Given the description of an element on the screen output the (x, y) to click on. 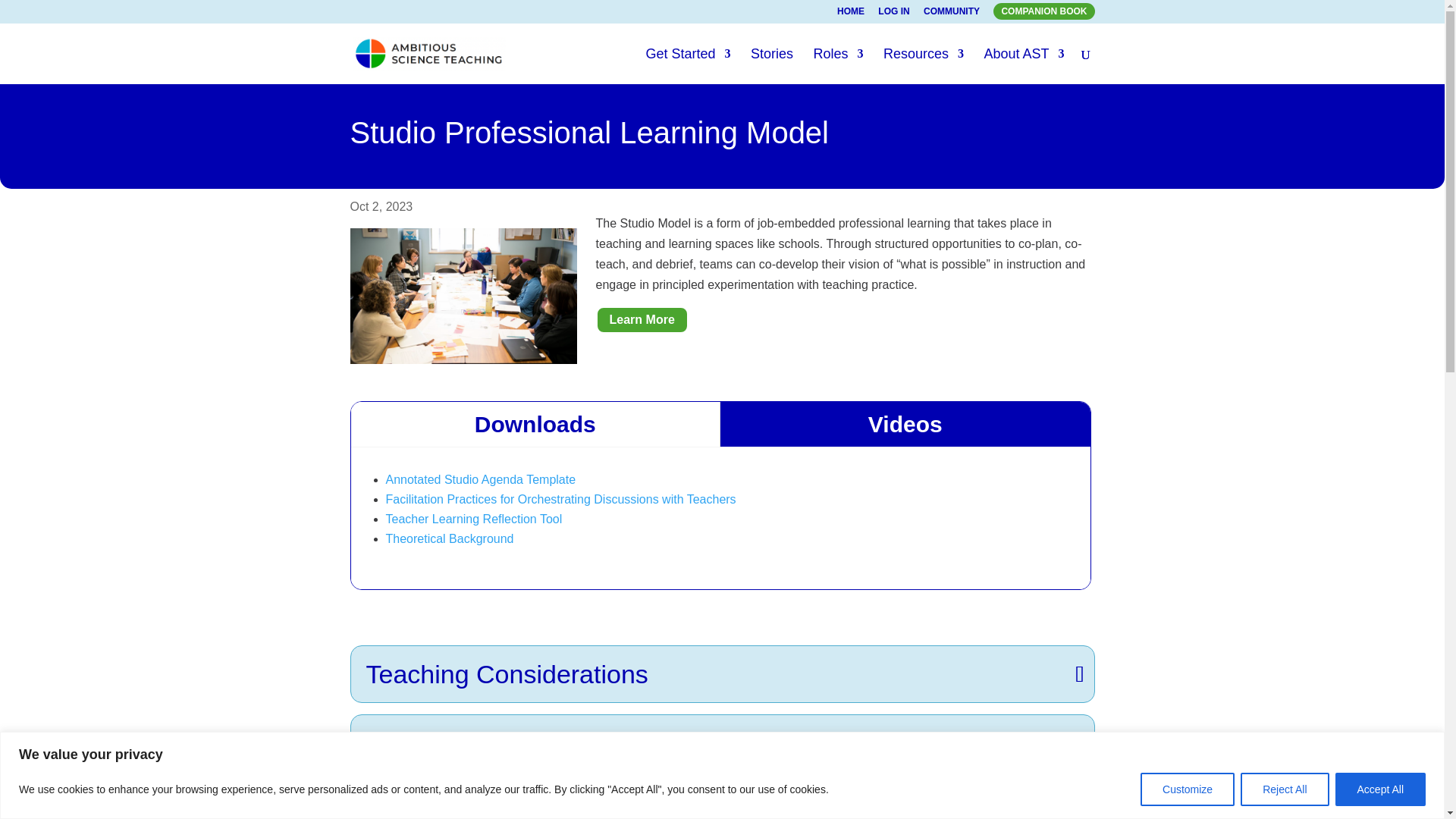
Get Started (687, 66)
HOME (850, 14)
Reject All (1283, 788)
COMMUNITY (951, 14)
Customize (1187, 788)
Stories (772, 66)
Roles (837, 66)
LOG IN (892, 14)
Accept All (1380, 788)
COMPANION BOOK (1043, 10)
